Given the description of an element on the screen output the (x, y) to click on. 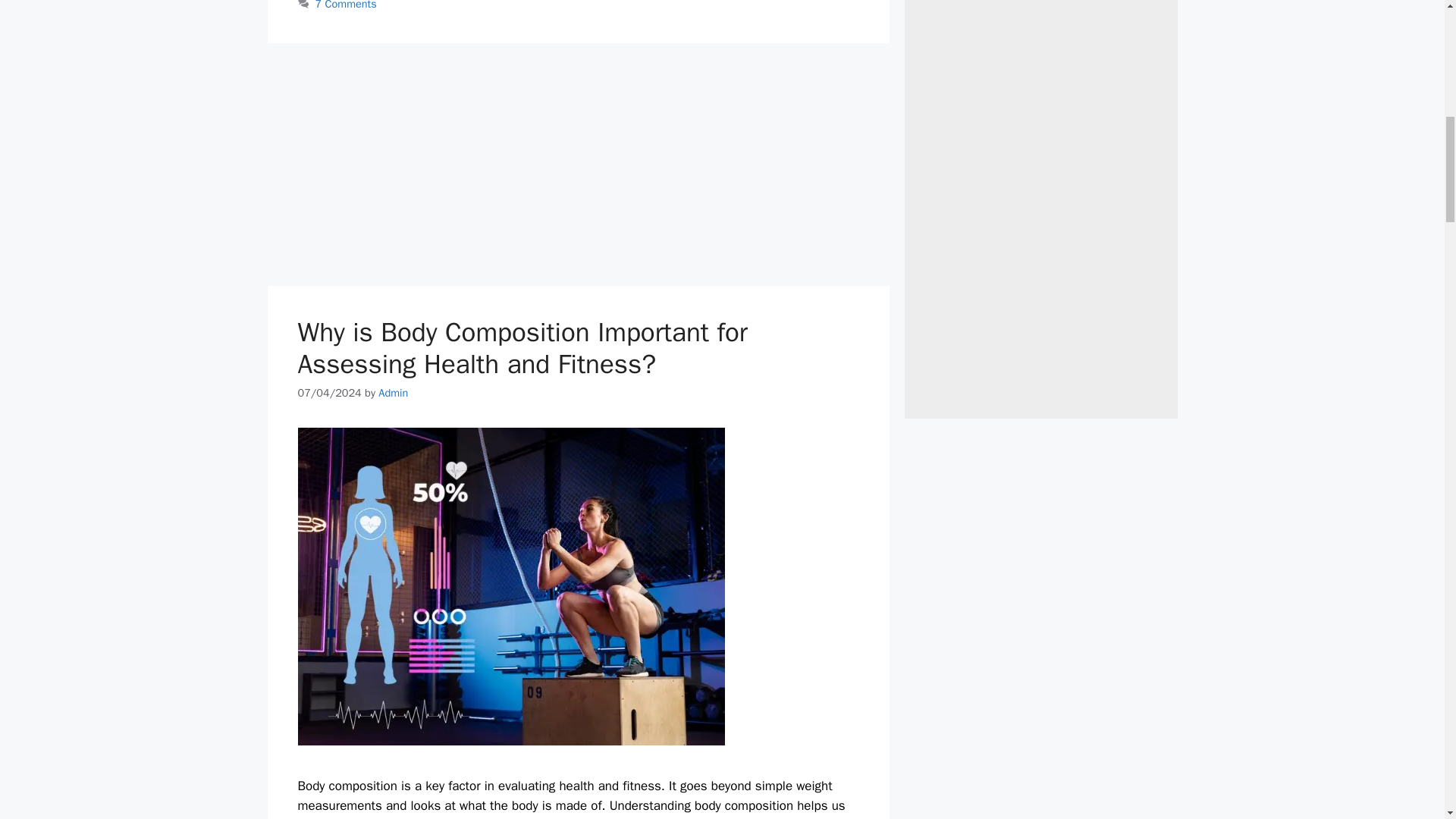
Advertisement (577, 164)
View all posts by Admin (392, 392)
Admin (392, 392)
7 Comments (346, 5)
